Given the description of an element on the screen output the (x, y) to click on. 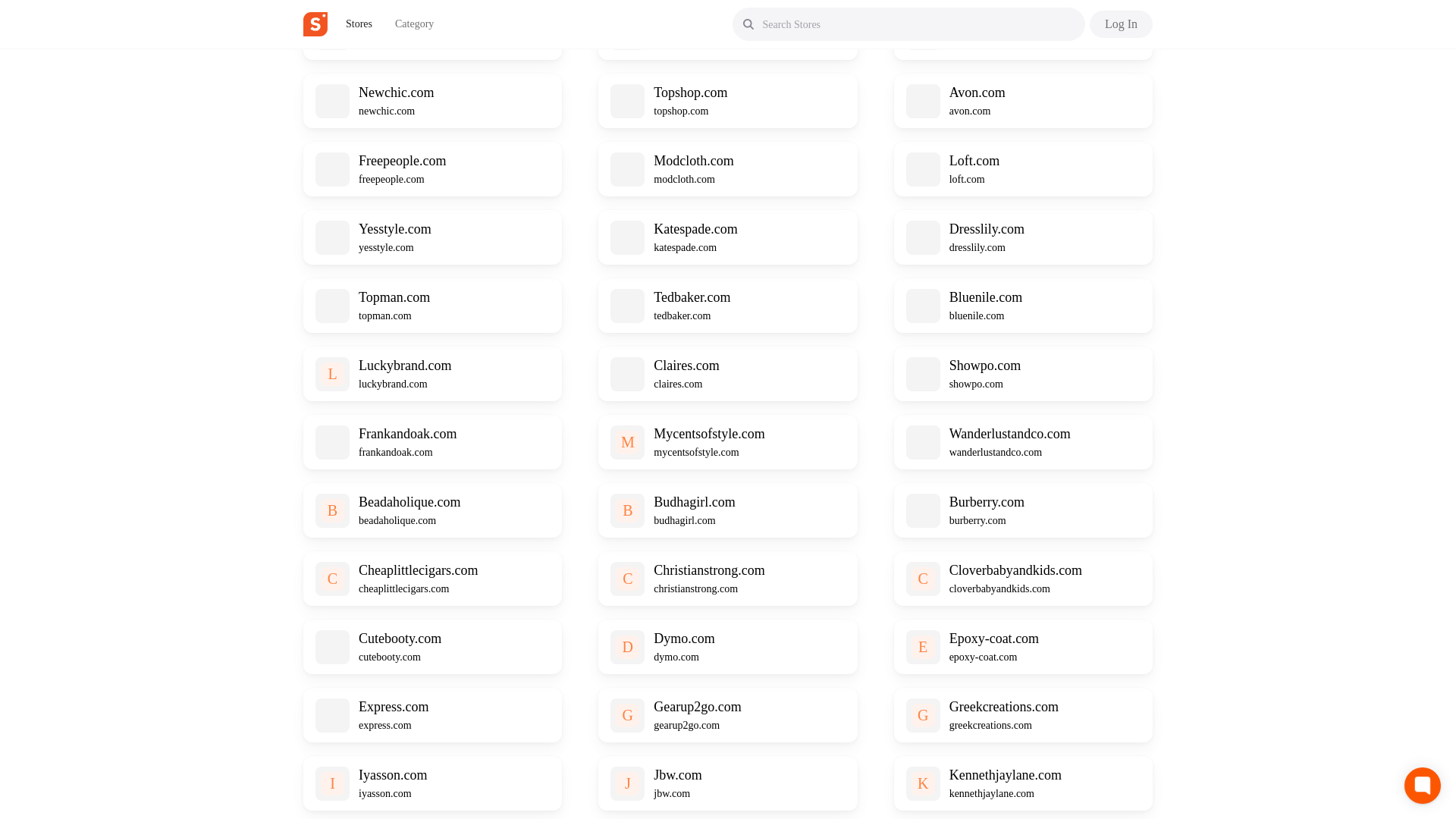
Topman.com (393, 296)
Beadaholique.com (409, 501)
Cloverbabyandkids.com (1015, 570)
Topshop.com (689, 92)
Burberry.com (987, 501)
Wanderlustandco.com (1009, 433)
Avon.com (977, 92)
Modcloth.com (693, 160)
Claires.com (686, 365)
Tedbaker.com (691, 296)
Cutebooty.com (399, 638)
Zaful.com (681, 23)
Forever21.com (399, 23)
Showpo.com (985, 365)
Budhagirl.com (694, 501)
